Given the description of an element on the screen output the (x, y) to click on. 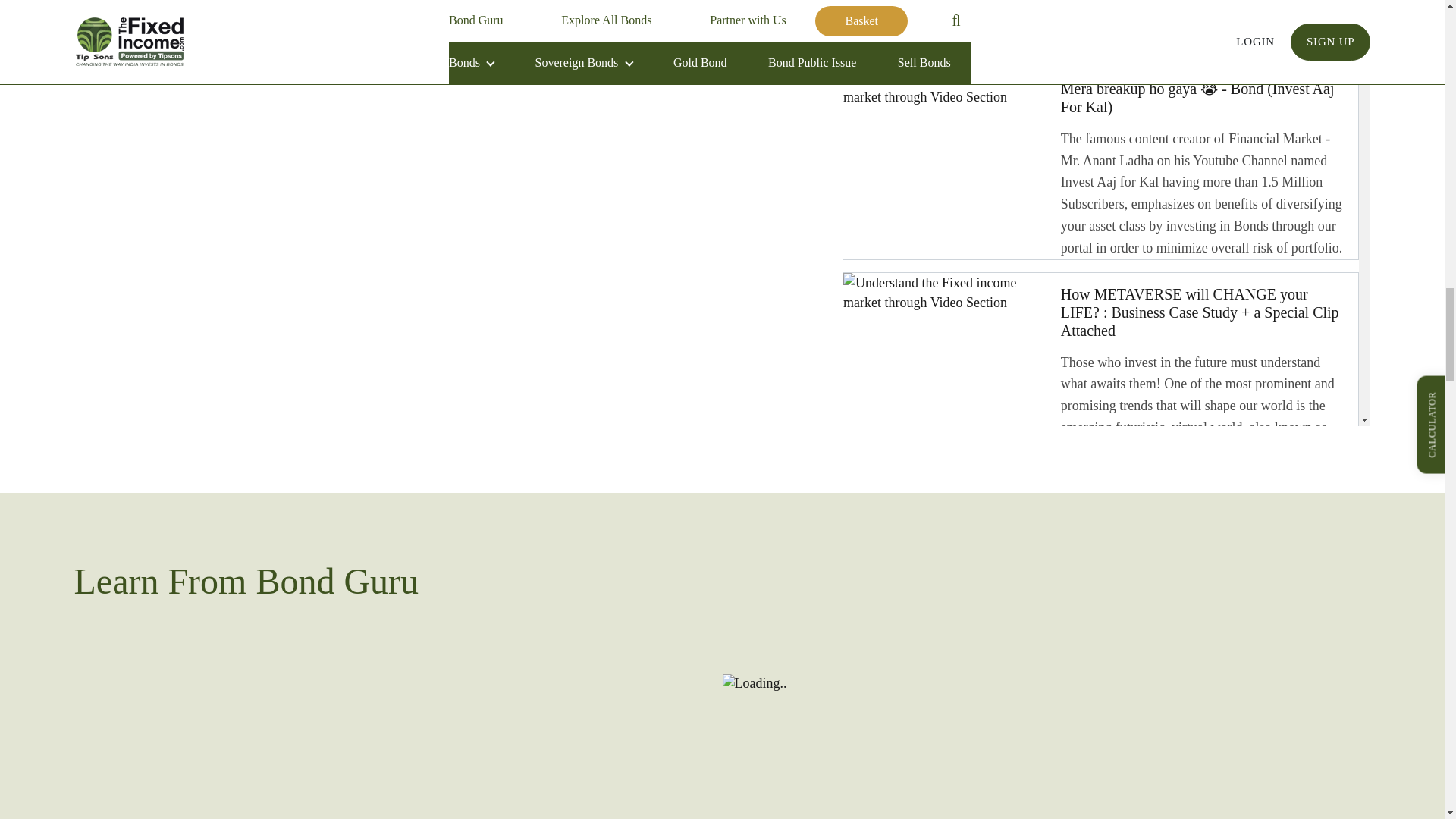
Click to play (1100, 163)
Click to play (1100, 377)
Click to play (1100, 569)
Click to play (1100, 27)
Click to play (1100, 808)
Click to play (1100, 720)
